Given the description of an element on the screen output the (x, y) to click on. 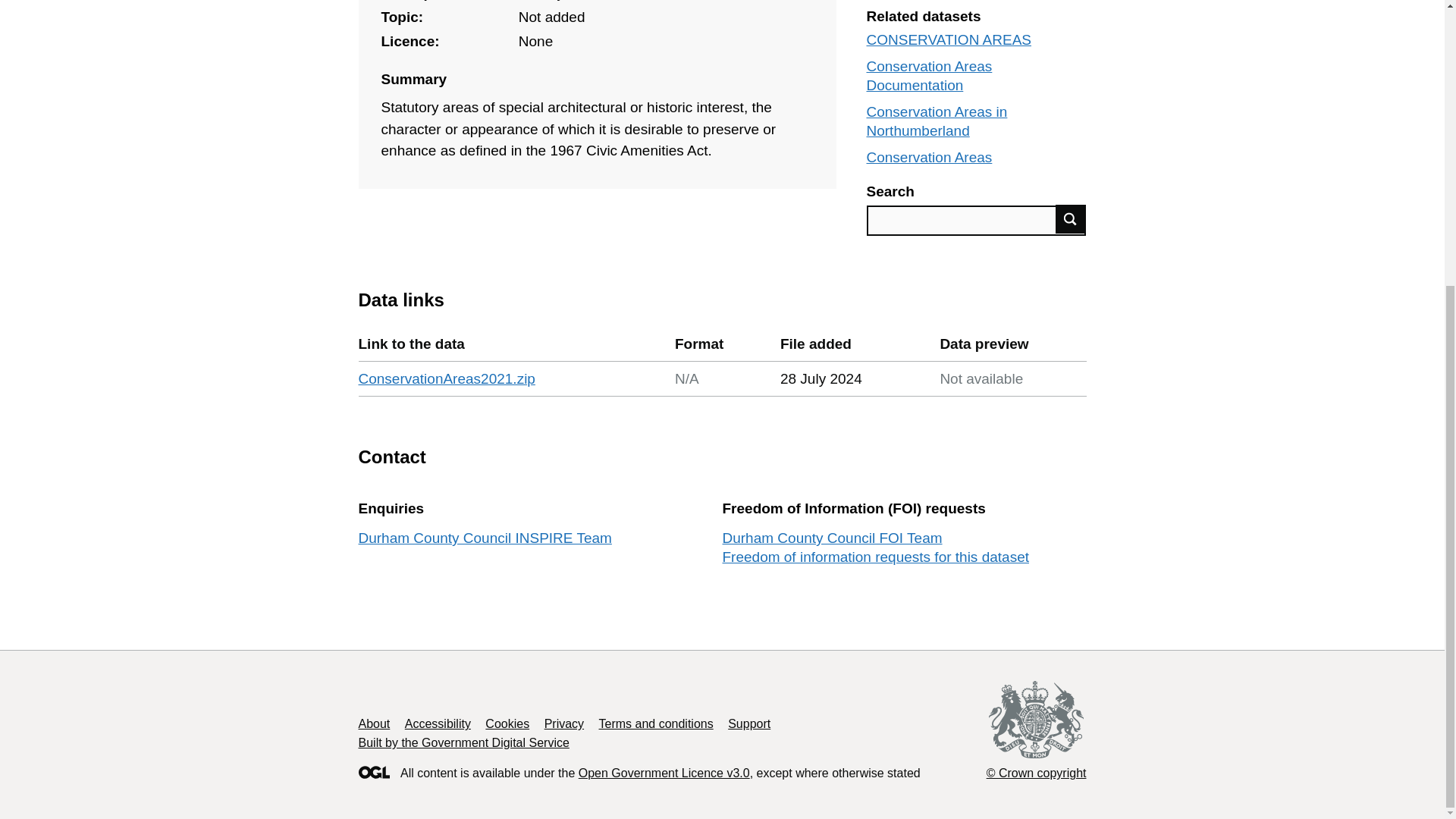
Accessibility (437, 723)
Built by the Government Digital Service (463, 742)
Freedom of information requests for this dataset (874, 556)
Find data (1070, 218)
Support (749, 723)
Privacy (563, 723)
CONSERVATION AREAS (948, 39)
Durham County Council INSPIRE Team (484, 537)
Open Government Licence v3.0 (663, 772)
Terms and conditions (655, 723)
Conservation Areas in Northumberland (936, 121)
Conservation Areas Documentation (928, 75)
Durham County Council FOI Team (832, 537)
Conservation Areas (928, 157)
About (374, 723)
